Given the description of an element on the screen output the (x, y) to click on. 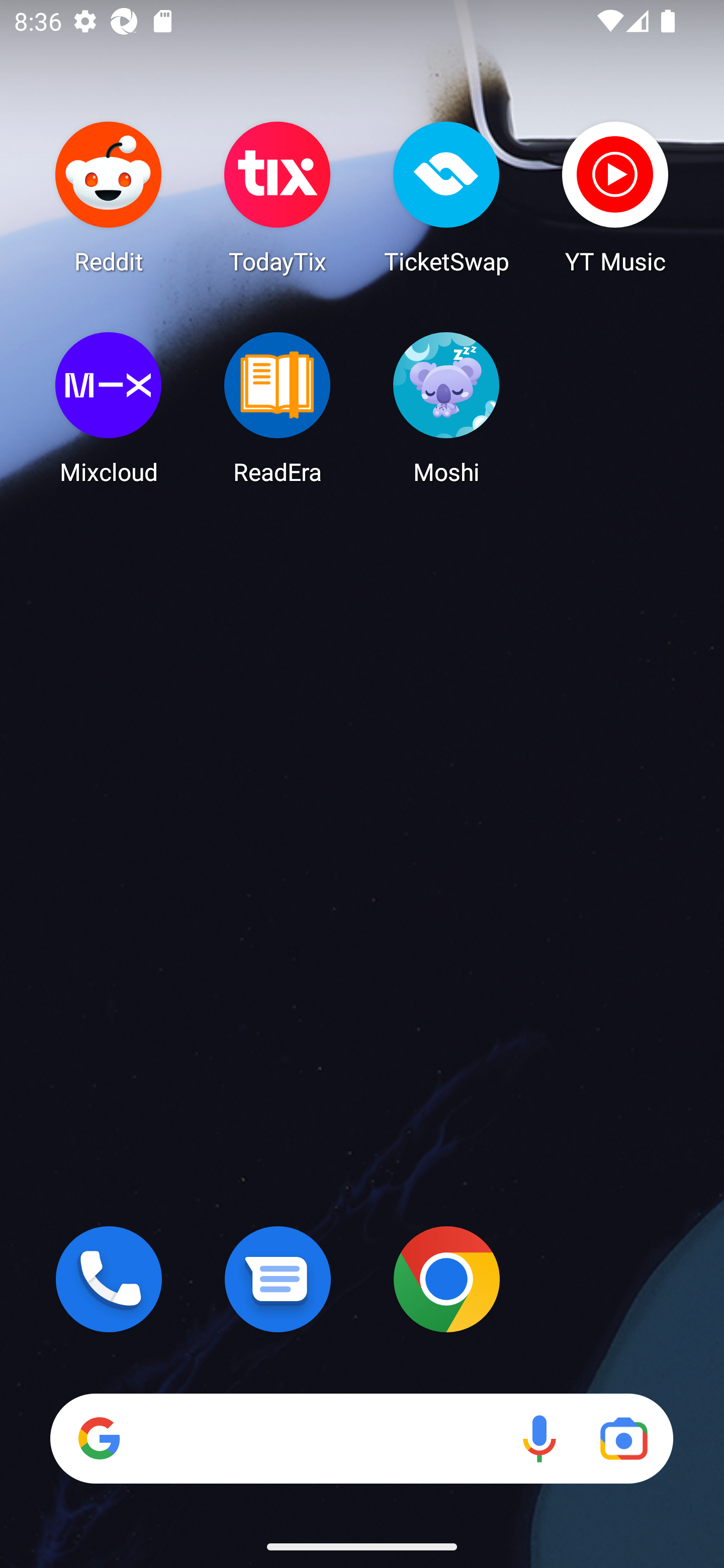
Reddit (108, 196)
TodayTix (277, 196)
TicketSwap (445, 196)
YT Music (615, 196)
Mixcloud (108, 407)
ReadEra (277, 407)
Moshi (445, 407)
Phone (108, 1279)
Messages (277, 1279)
Chrome (446, 1279)
Voice search (539, 1438)
Google Lens (623, 1438)
